Given the description of an element on the screen output the (x, y) to click on. 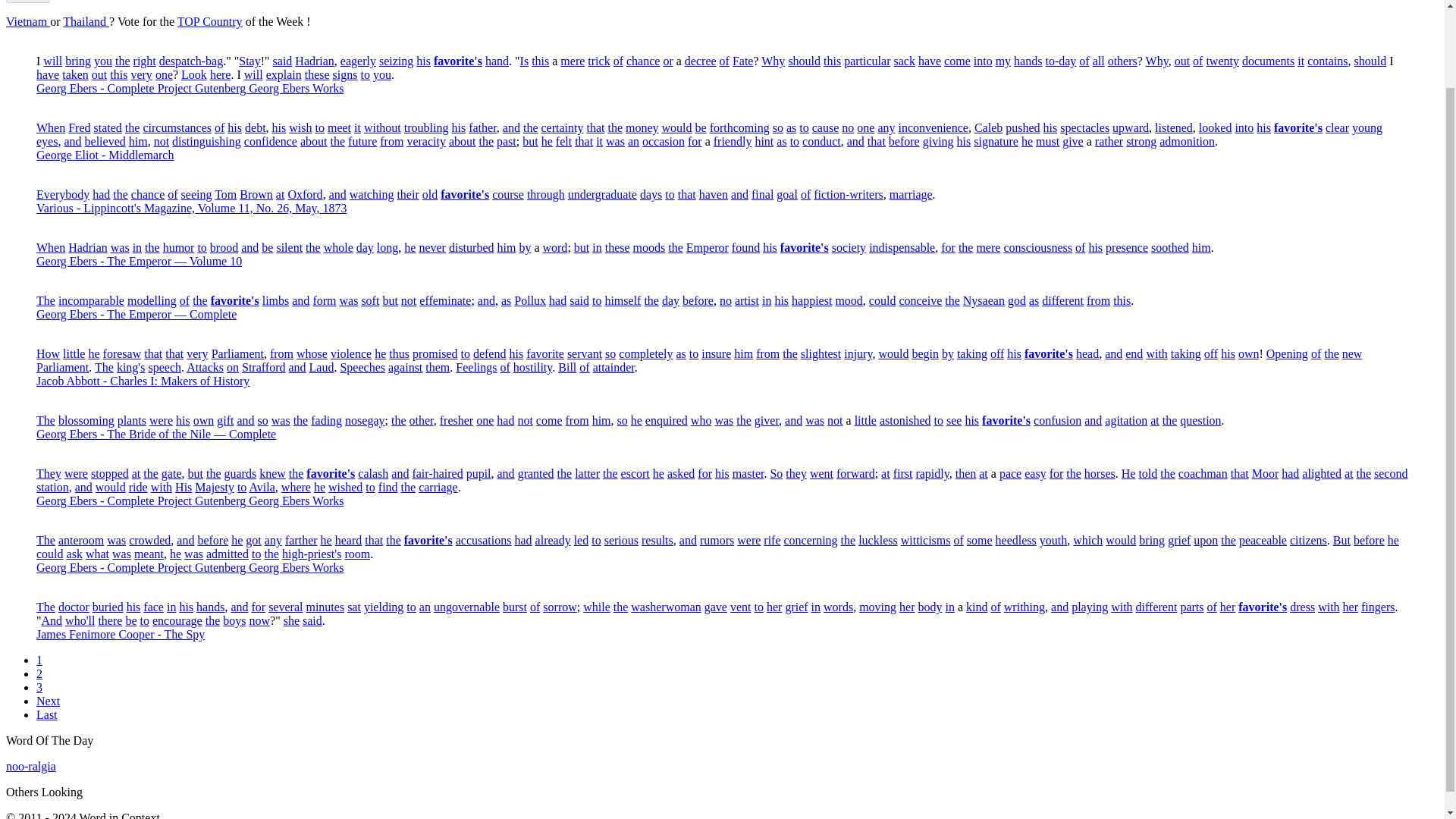
Click to find the word in context (77, 60)
Click to find the word in context (103, 60)
Click to find the word in context (539, 60)
bring (77, 60)
his (423, 60)
Click to find the word in context (572, 60)
Click to find the word in context (123, 60)
eagerly (357, 60)
Click to find the word in context (144, 60)
Stay (249, 60)
Click to find the word in context (357, 60)
Click to find the word in context (190, 60)
Click to find the word in context (314, 60)
TOP Country (210, 21)
Vietnam (27, 21)
